Given the description of an element on the screen output the (x, y) to click on. 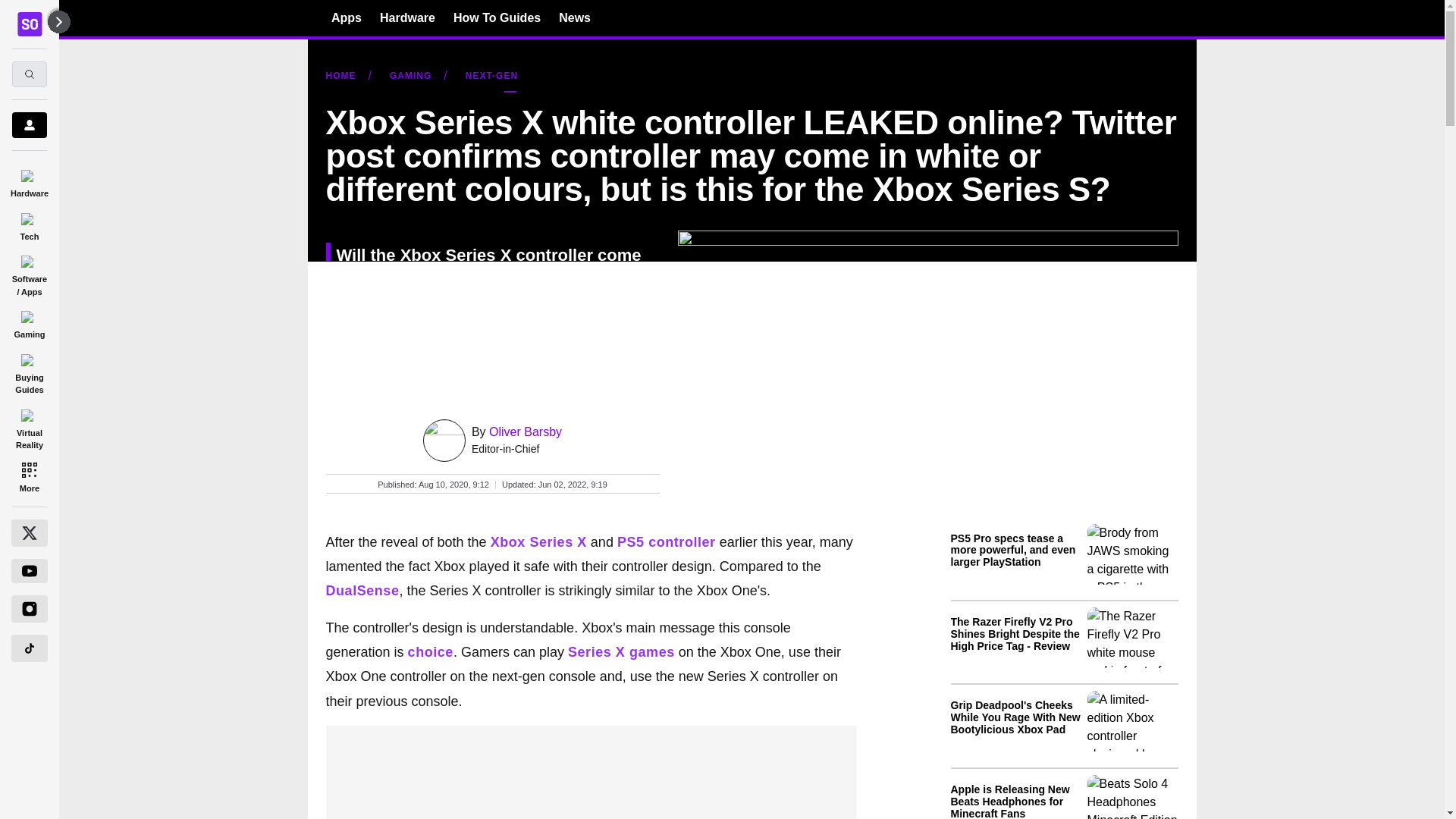
Hardware (28, 180)
Buying Guides (28, 371)
Apps (346, 18)
Tech (28, 224)
Virtual Reality (28, 426)
News (575, 18)
More (28, 476)
Hardware (407, 18)
Gaming (28, 322)
How To Guides (496, 18)
Latest News (1063, 667)
